Given the description of an element on the screen output the (x, y) to click on. 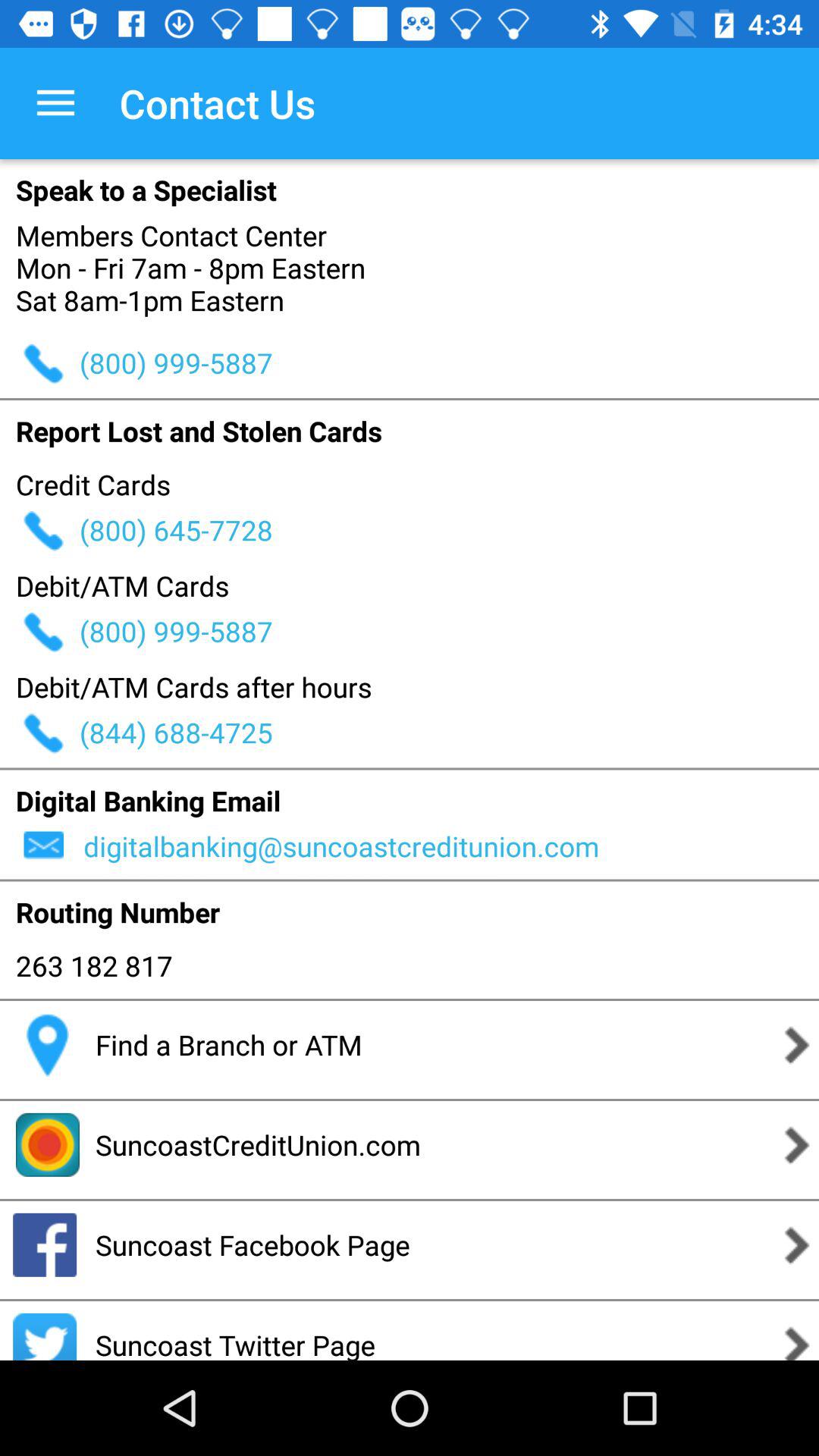
flip until (800) 645-7728 item (449, 529)
